Given the description of an element on the screen output the (x, y) to click on. 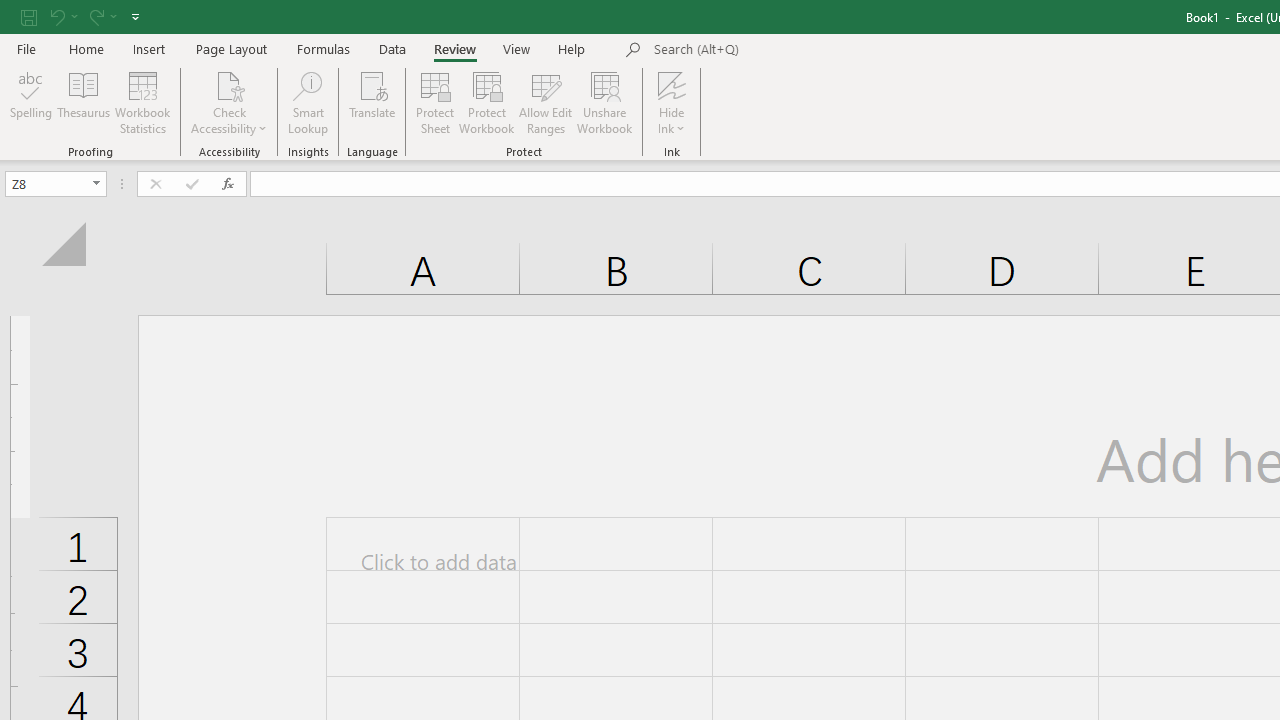
Protect Sheet... (434, 102)
Translate (372, 102)
Smart Lookup (308, 102)
